Given the description of an element on the screen output the (x, y) to click on. 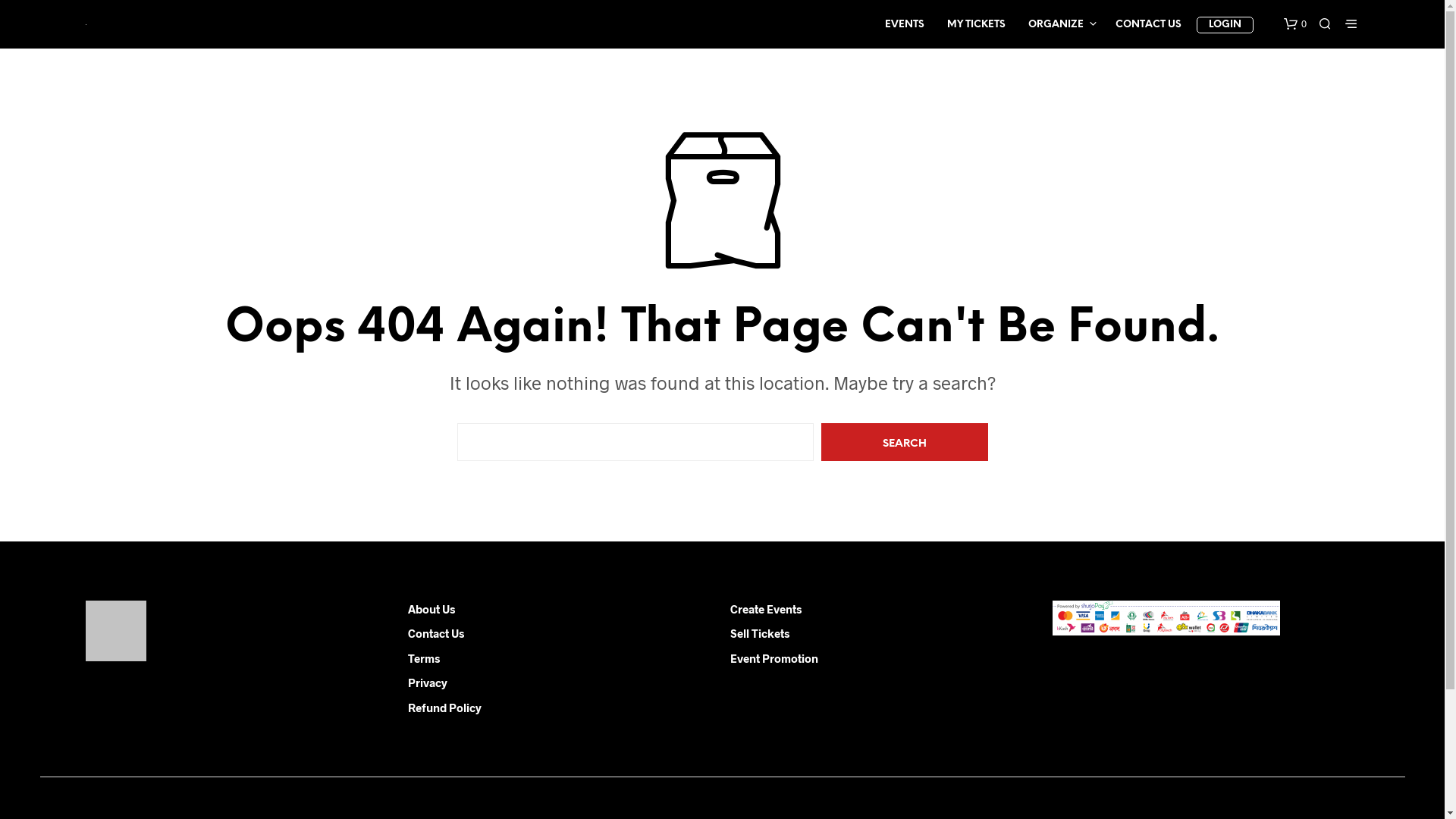
Sell Tickets Element type: text (758, 633)
CONTACT US Element type: text (1148, 24)
Privacy Element type: text (427, 682)
EVENTS Element type: text (904, 24)
Create Events Element type: text (764, 608)
Terms Element type: text (423, 657)
Contact Us Element type: text (435, 633)
MY TICKETS Element type: text (975, 24)
About Us Element type: text (431, 608)
0 Element type: text (1294, 23)
LOGIN Element type: text (1224, 24)
Event Promotion Element type: text (773, 657)
Search Element type: text (903, 442)
ORGANIZE Element type: text (1055, 24)
Refund Policy Element type: text (444, 707)
